Given the description of an element on the screen output the (x, y) to click on. 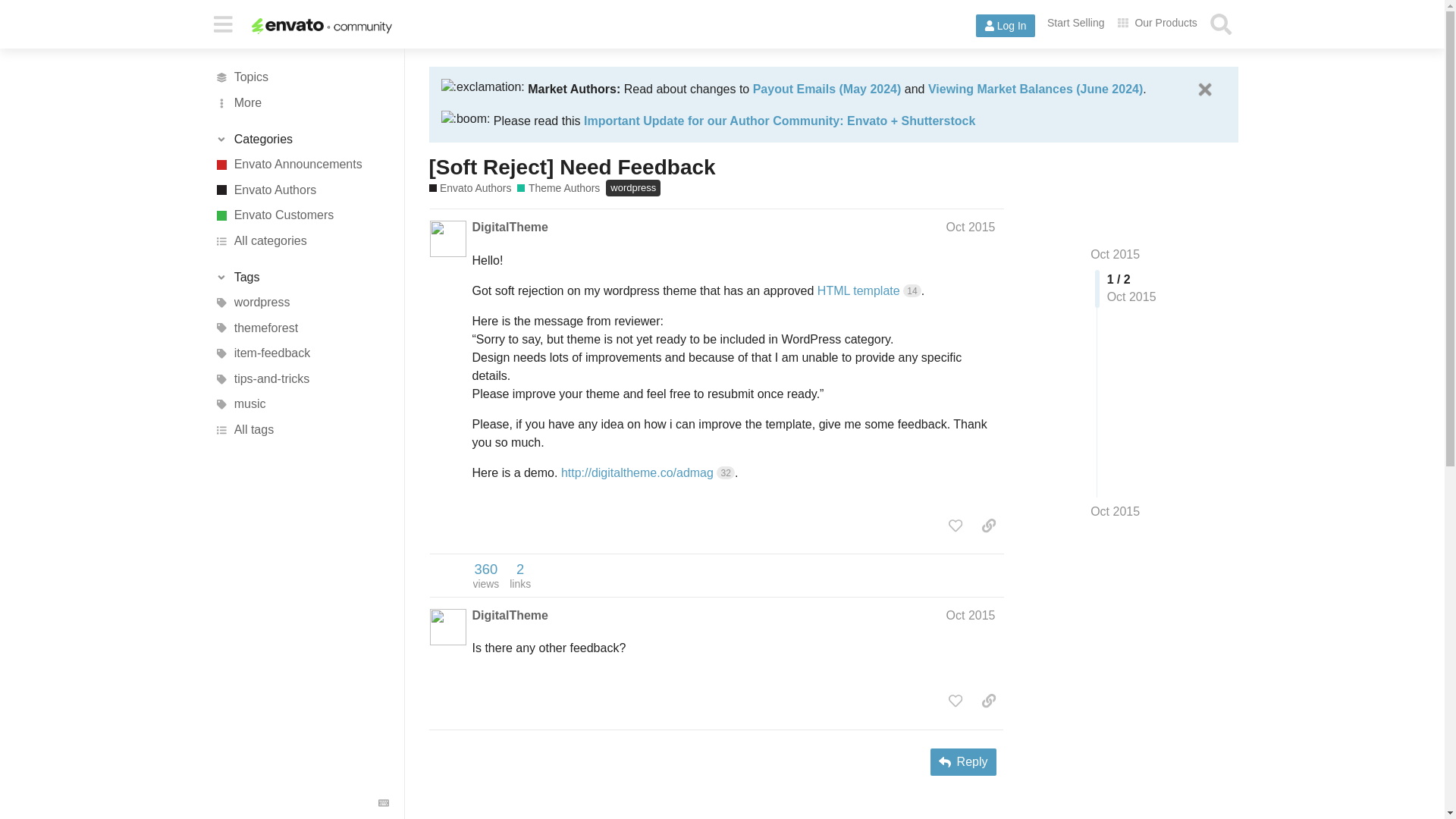
themeforest (301, 328)
wordpress (301, 302)
All categories (301, 240)
Oct 2015 (1115, 254)
music (301, 404)
Search (1220, 23)
Envato Authors (301, 190)
Keyboard Shortcuts (384, 802)
Envato Customers (301, 216)
Toggle section (301, 277)
